Given the description of an element on the screen output the (x, y) to click on. 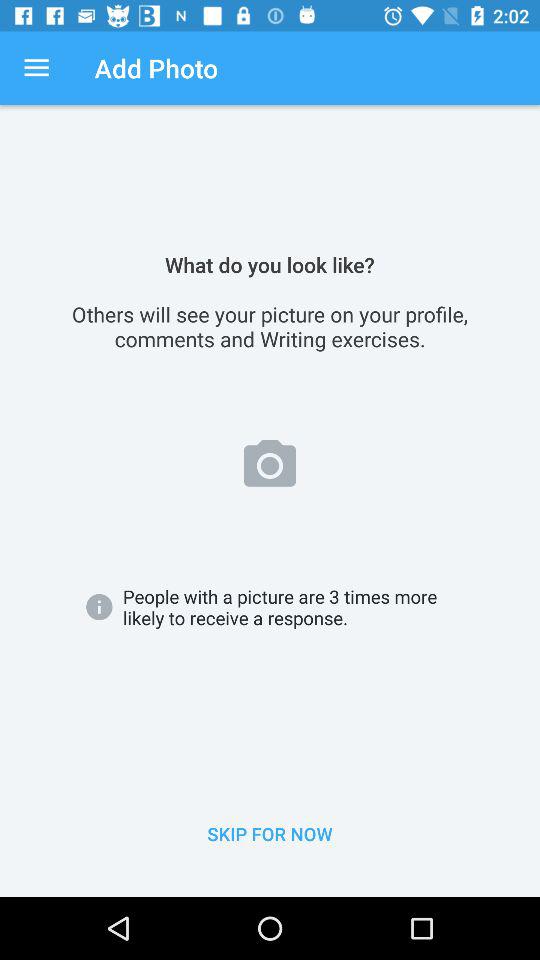
choose icon above the others will see (36, 68)
